Given the description of an element on the screen output the (x, y) to click on. 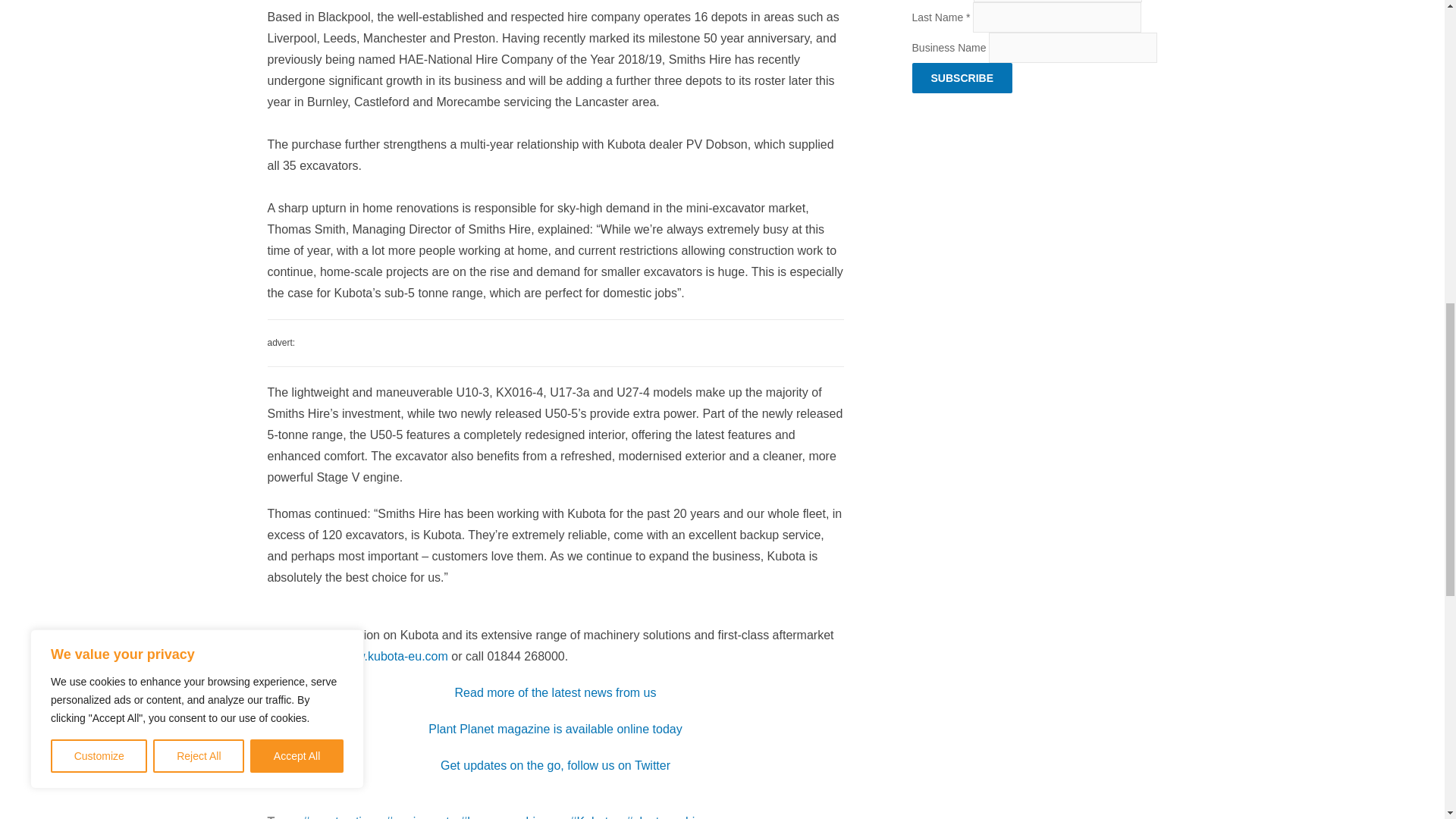
Subscribe (961, 78)
